Given the description of an element on the screen output the (x, y) to click on. 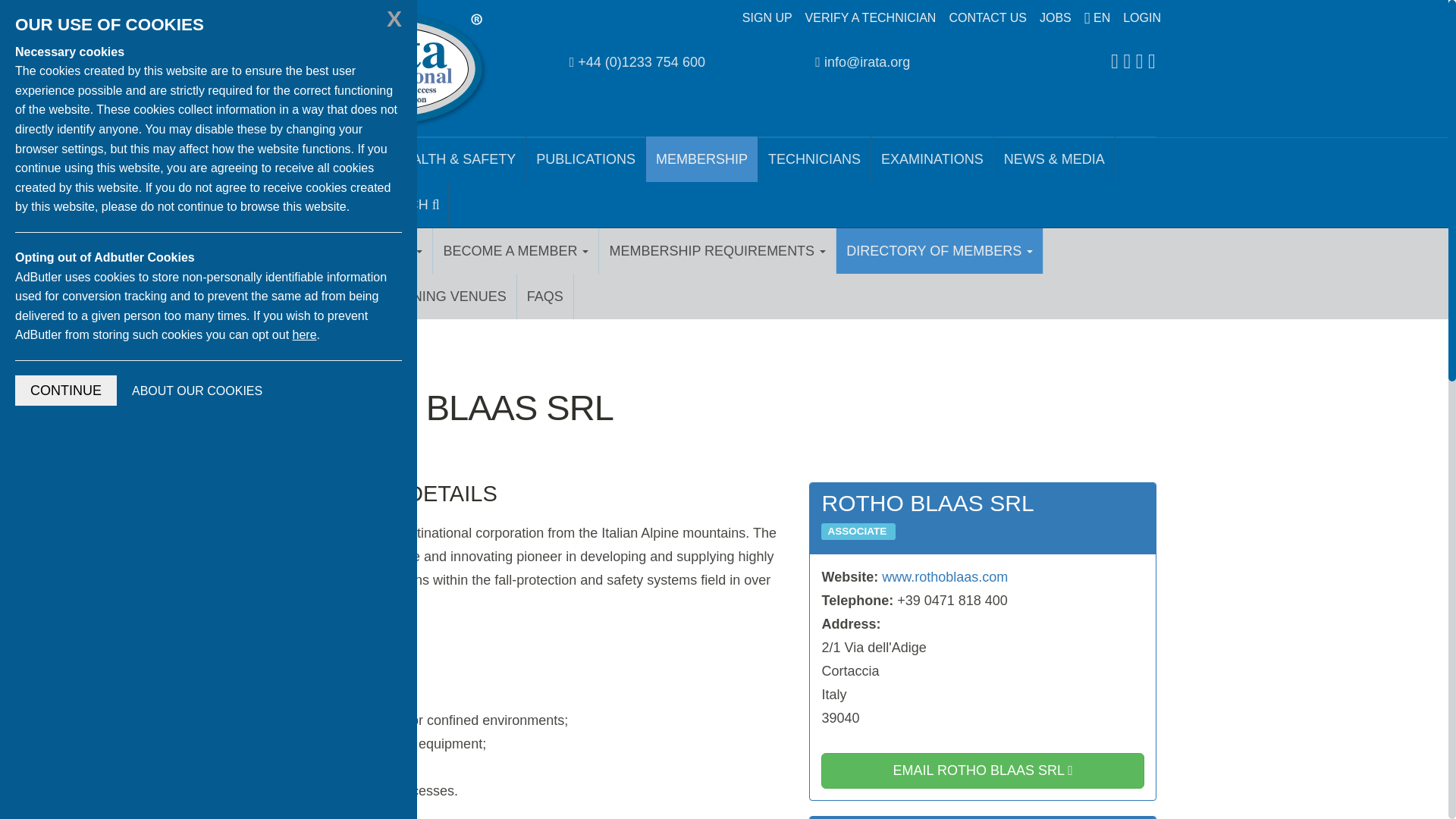
JOBS (1055, 17)
PUBLICATIONS (585, 158)
MEMBERSHIP (702, 158)
EVENTS (325, 204)
LOGIN (1141, 17)
EXAMINATIONS (932, 158)
TECHNICIANS (814, 158)
EN (1096, 17)
VERIFY A TECHNICIAN (870, 17)
BECOME A MEMBER (515, 250)
SIGN UP (767, 17)
MEMBER TOOLS (362, 250)
ABOUT (348, 158)
CONTACT US (987, 17)
SEARCH (405, 204)
